Given the description of an element on the screen output the (x, y) to click on. 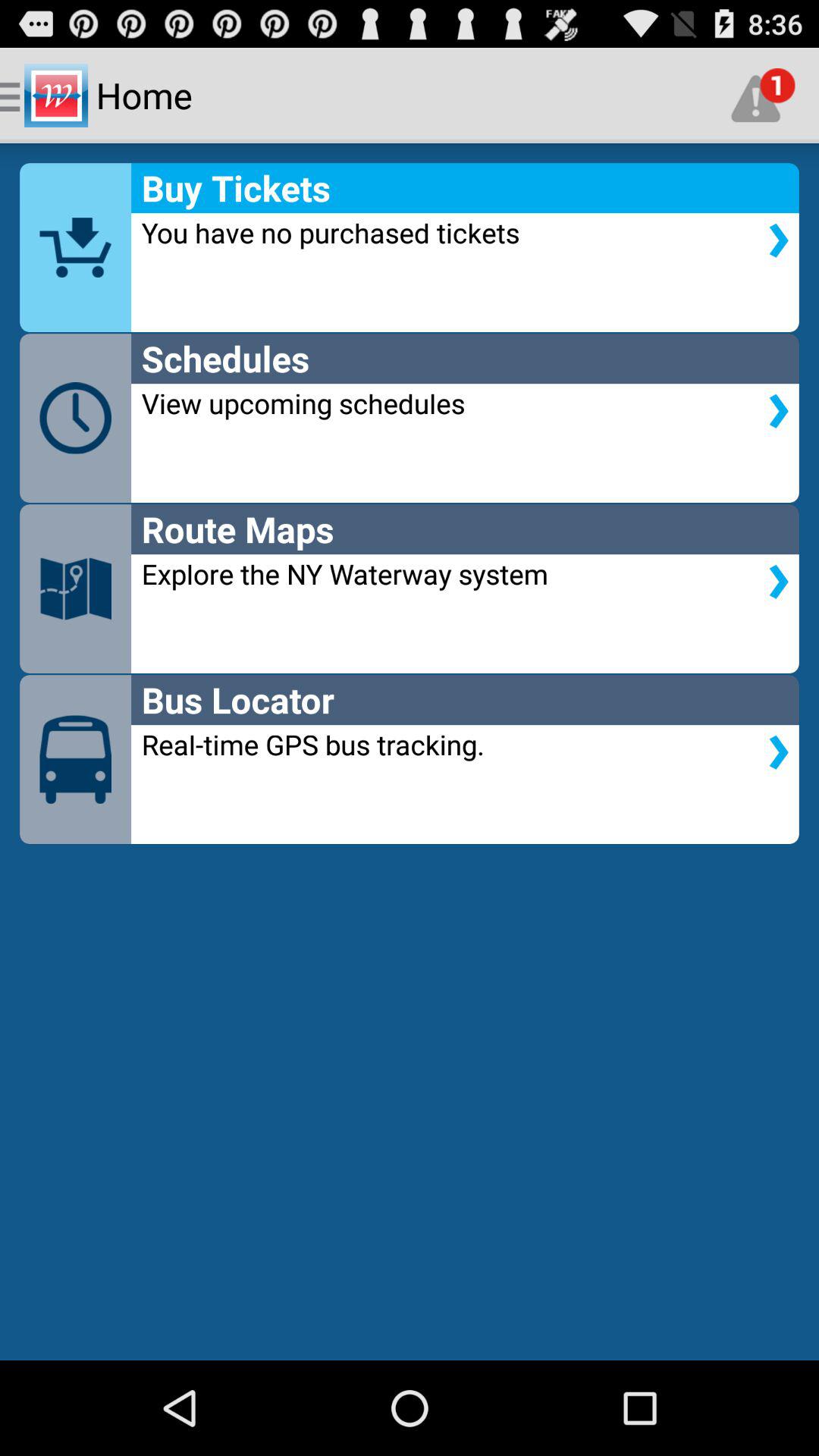
tap app to the right of home item (763, 95)
